Given the description of an element on the screen output the (x, y) to click on. 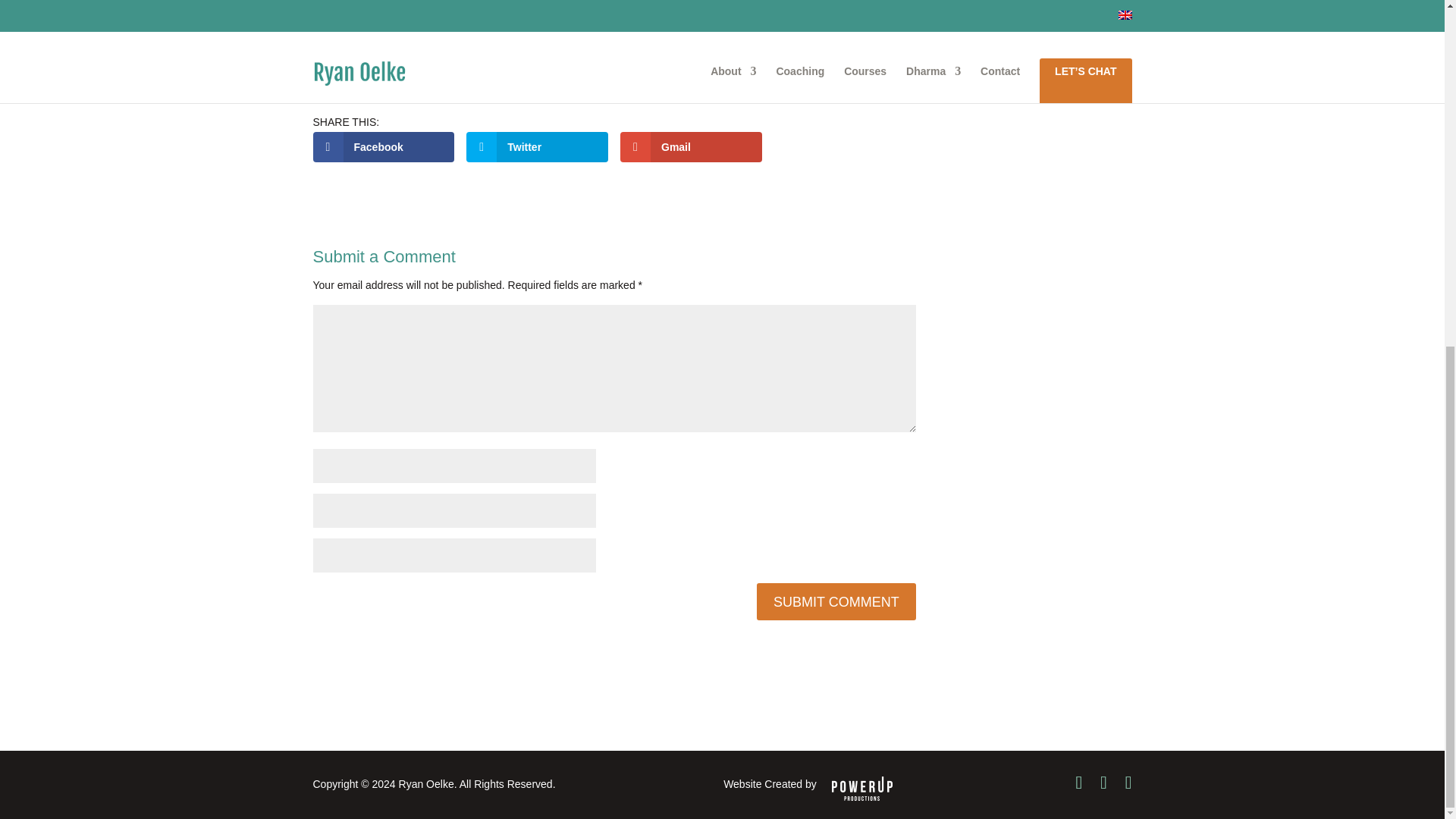
Facebook (383, 146)
Gmail (690, 146)
Submit Comment (836, 601)
Twitter (536, 146)
Submit Comment (836, 601)
